Given the description of an element on the screen output the (x, y) to click on. 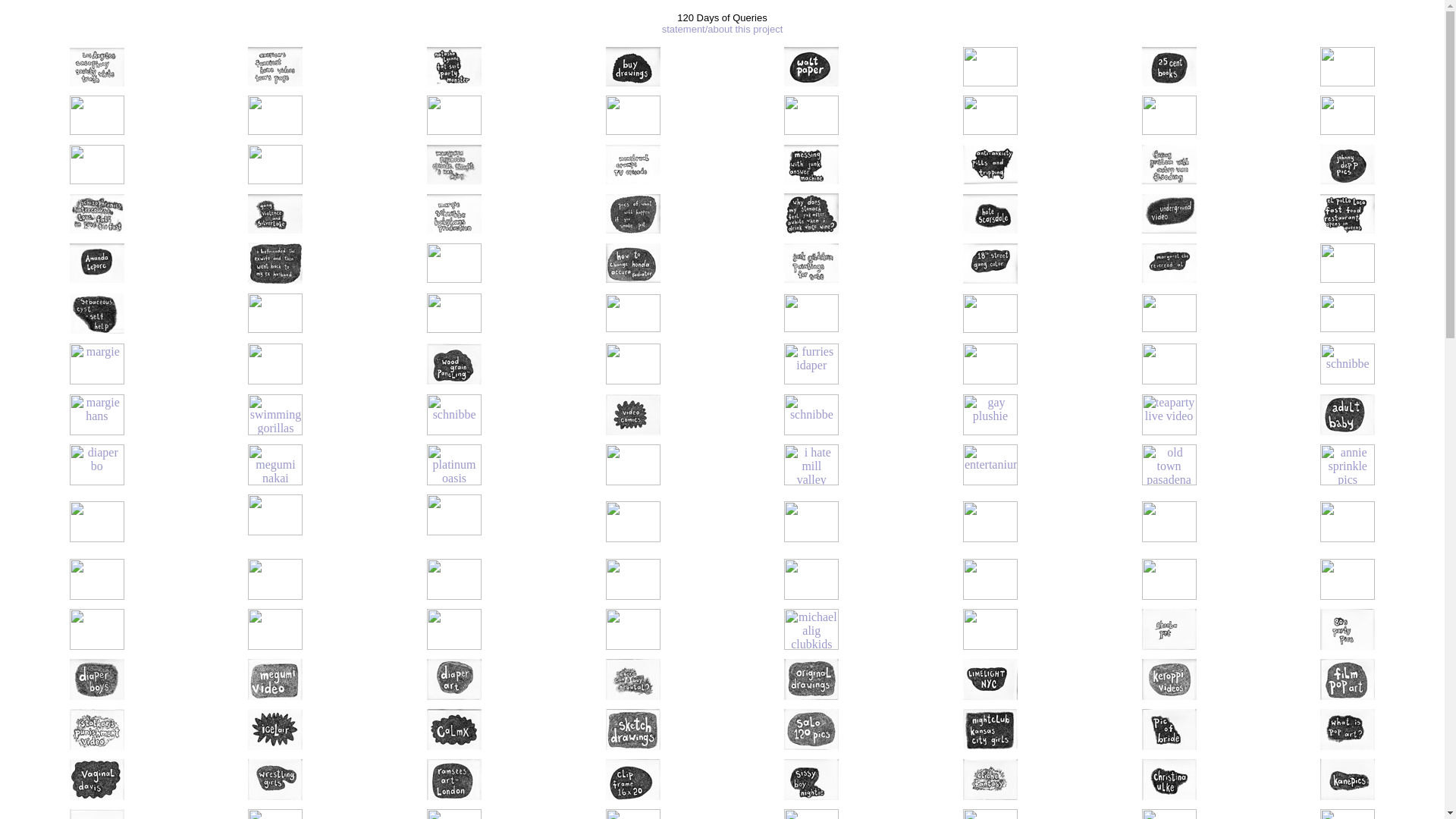
statement/about this project Element type: text (722, 28)
